Given the description of an element on the screen output the (x, y) to click on. 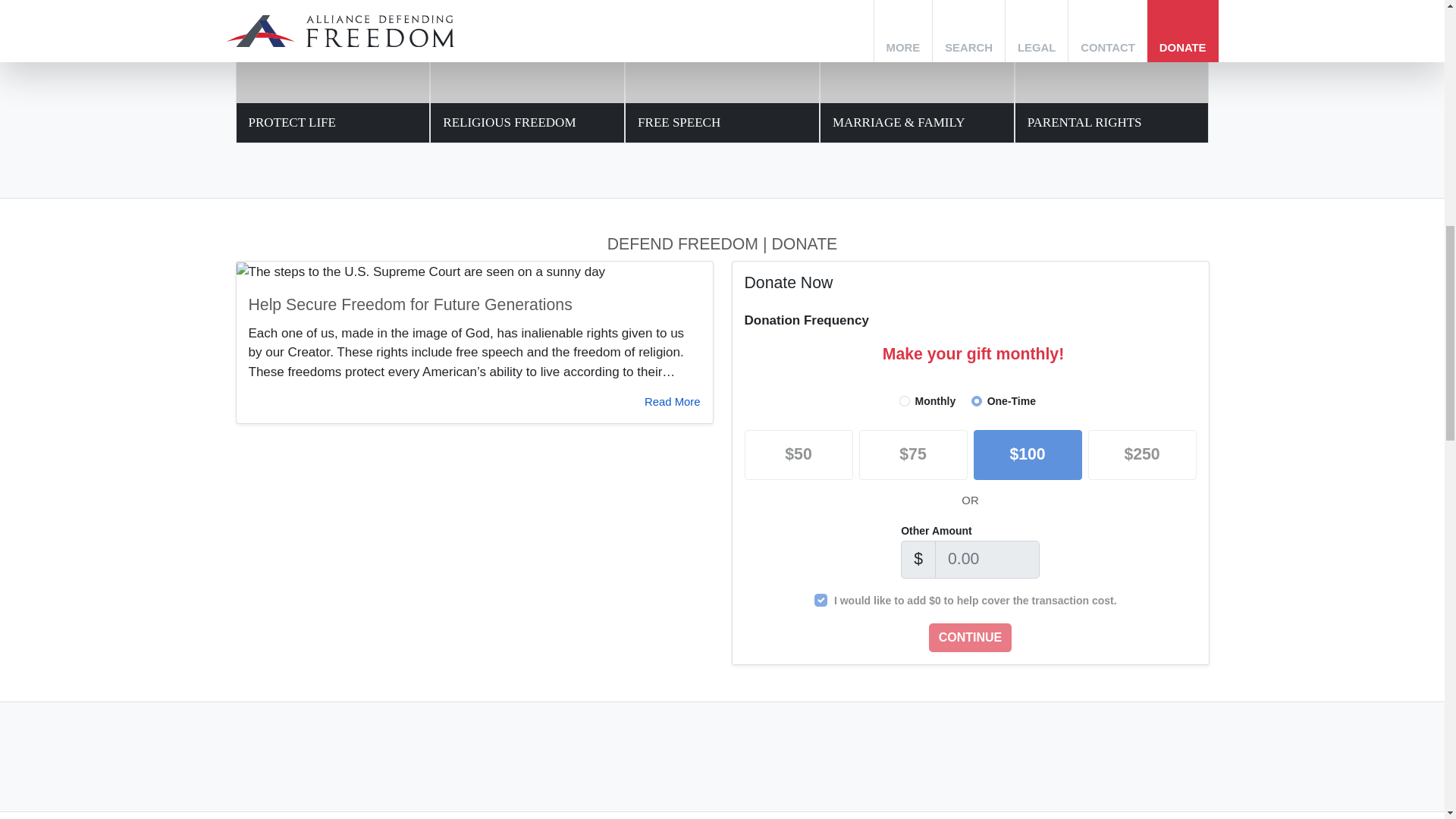
on (820, 599)
once (976, 400)
monthly (904, 400)
